Given the description of an element on the screen output the (x, y) to click on. 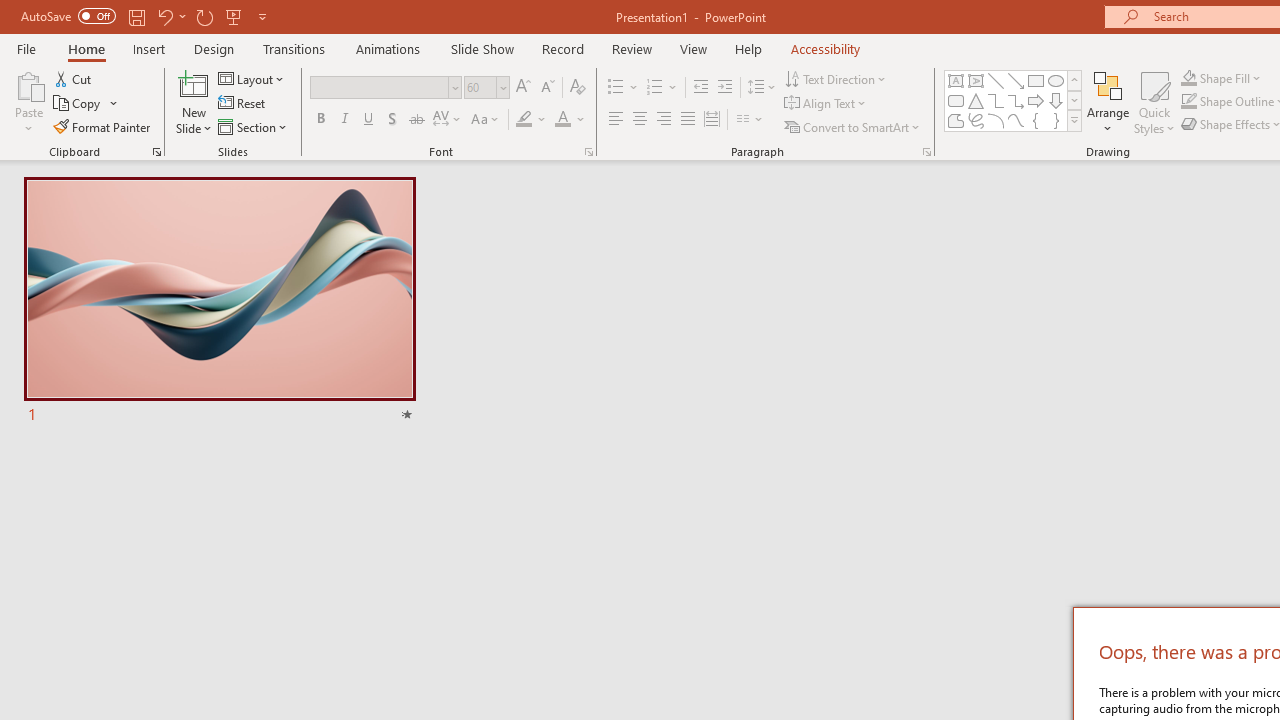
Line (995, 80)
Paragraph... (926, 151)
Font... (588, 151)
Shapes (1074, 120)
Bold (320, 119)
Align Text (826, 103)
Section (254, 126)
Decrease Font Size (547, 87)
